Given the description of an element on the screen output the (x, y) to click on. 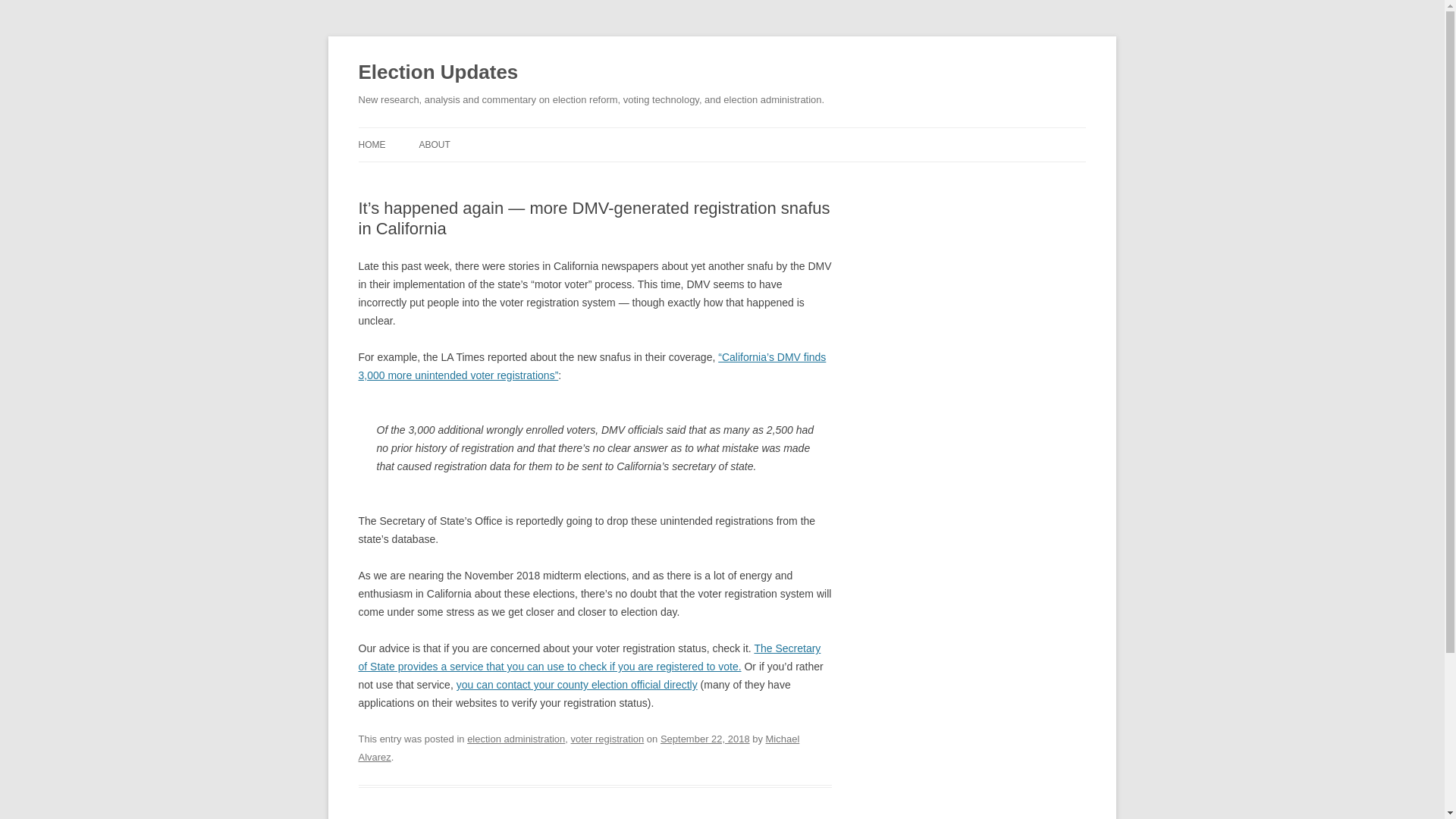
Election Updates (438, 72)
ABOUT (434, 144)
3:44 pm (705, 738)
election administration (515, 738)
Michael Alvarez (578, 747)
you can contact your county election official directly (577, 684)
View all posts by Michael Alvarez (578, 747)
voter registration (607, 738)
September 22, 2018 (705, 738)
